Given the description of an element on the screen output the (x, y) to click on. 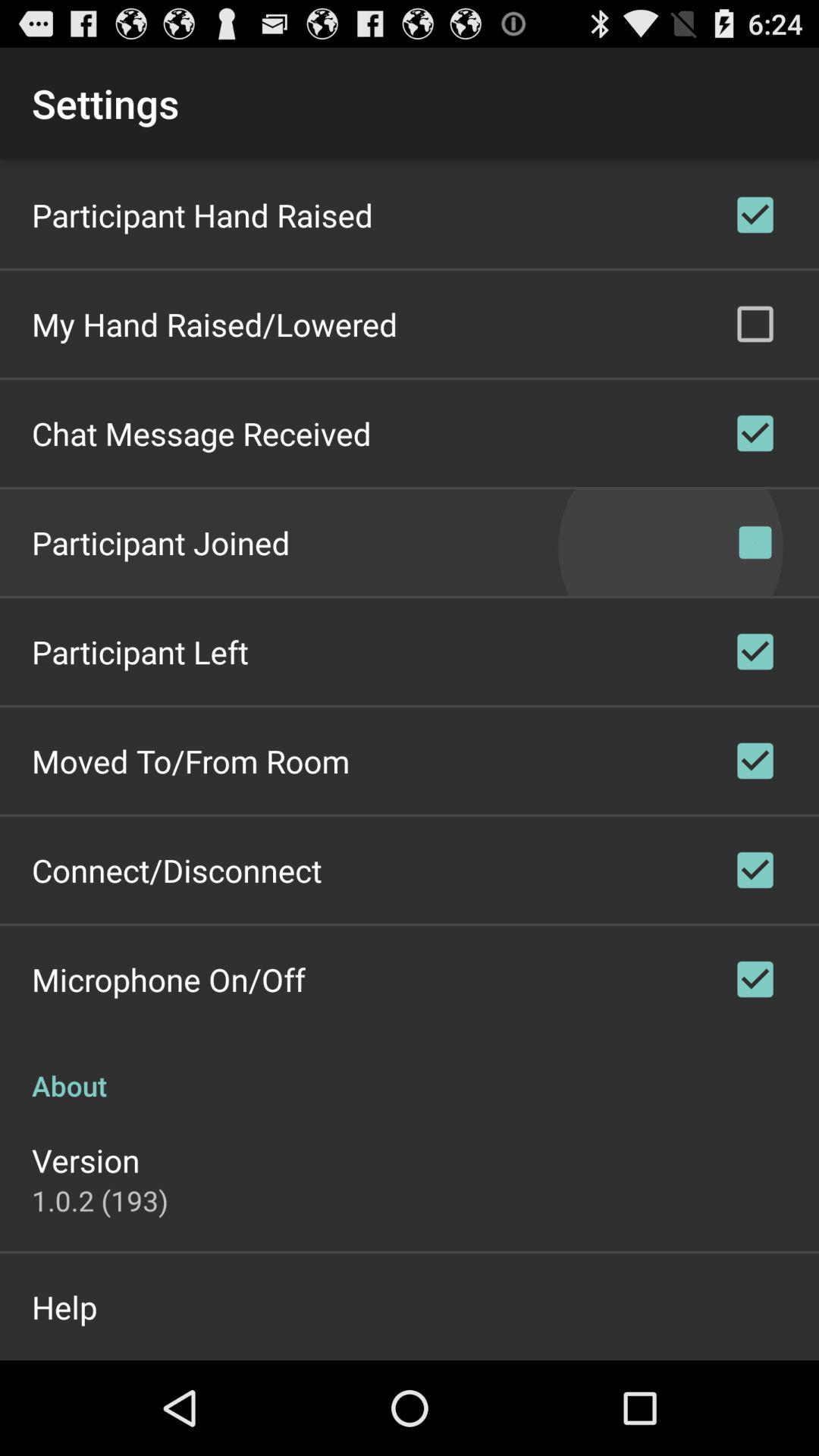
jump to chat message received item (201, 433)
